Given the description of an element on the screen output the (x, y) to click on. 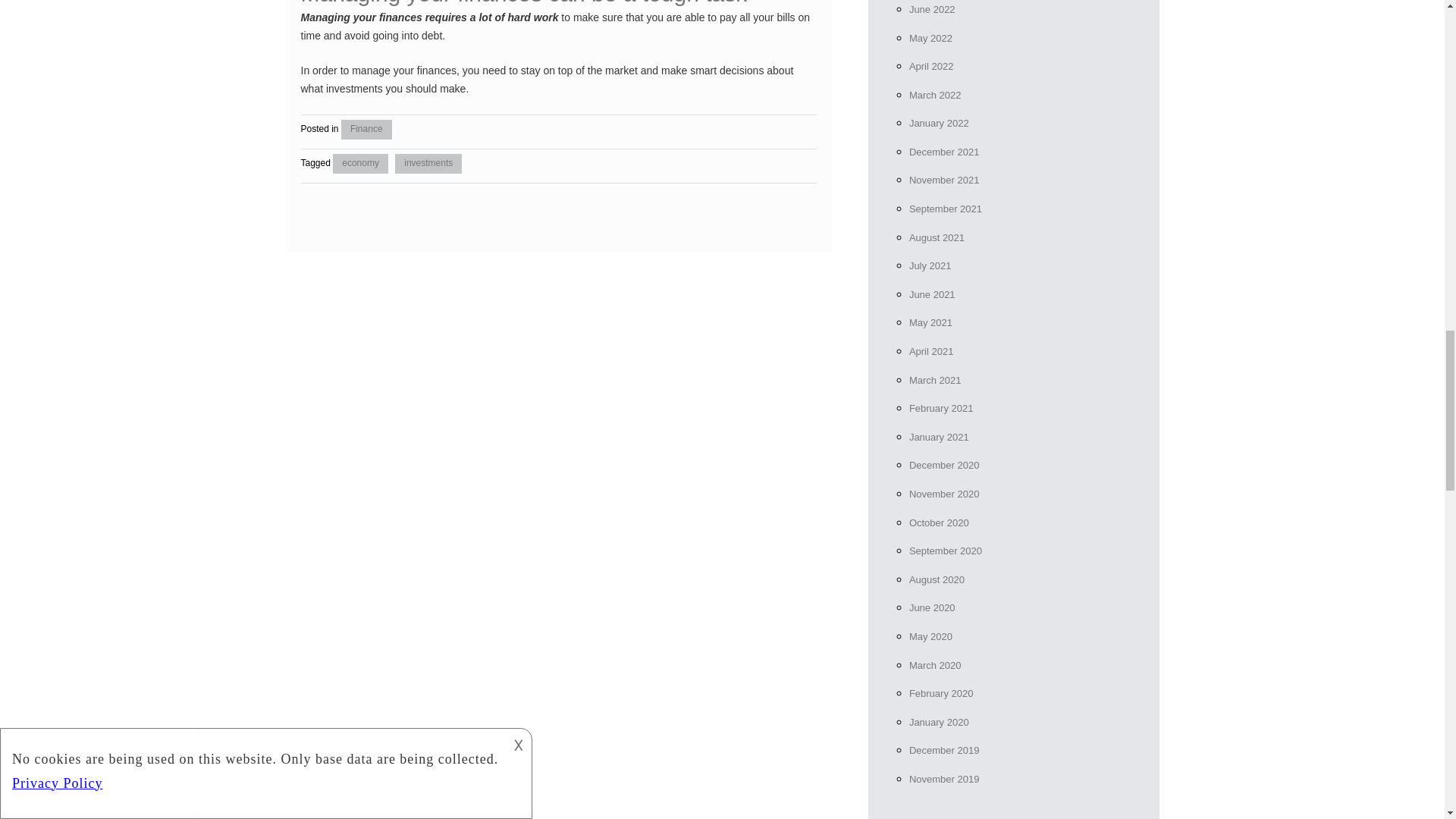
finances (436, 70)
economy (360, 163)
Finance (365, 129)
investments (427, 163)
